Given the description of an element on the screen output the (x, y) to click on. 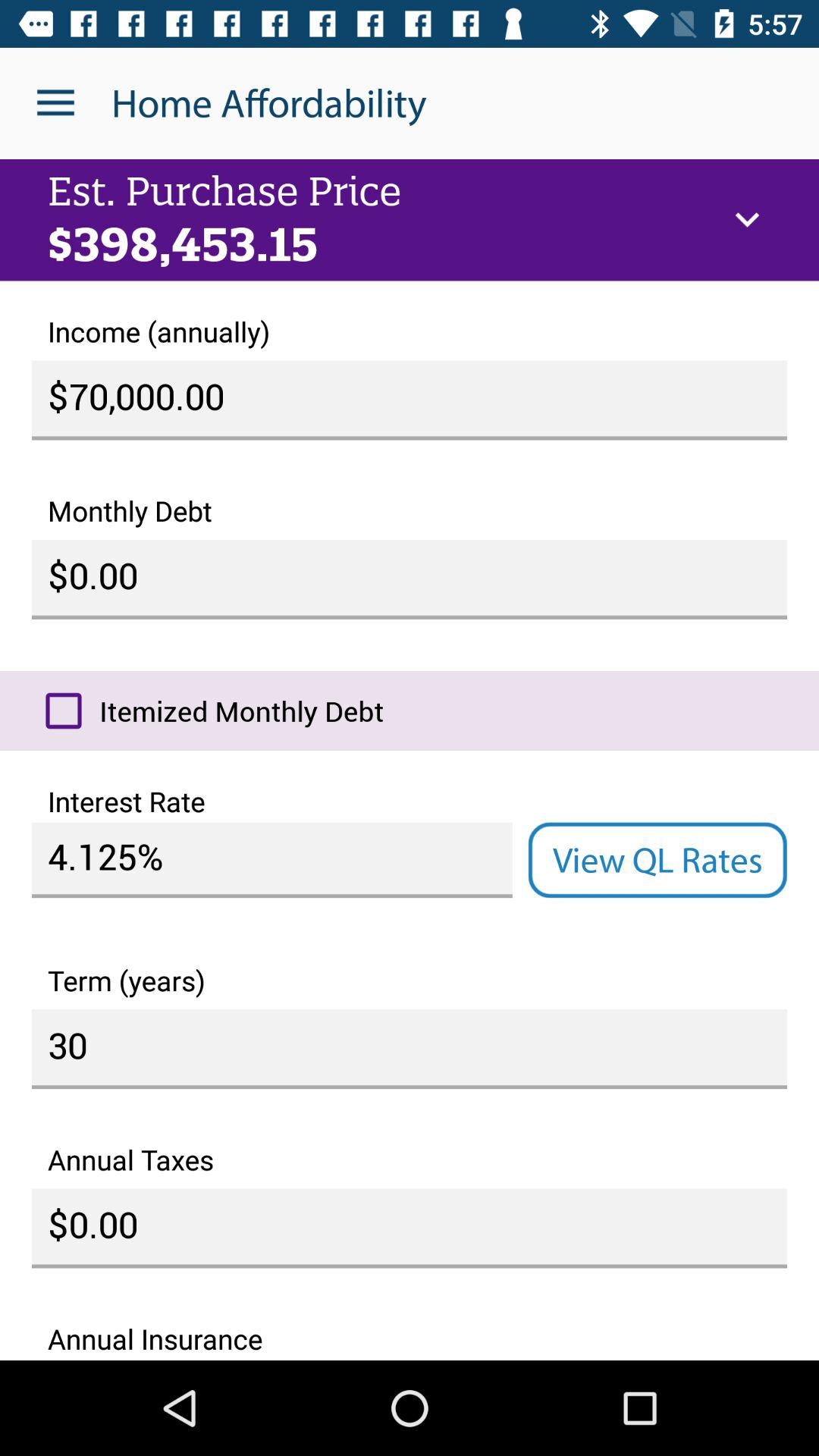
move to the text below the text interest rate on the web page (271, 860)
click on the lest bottom check box (63, 710)
